Given the description of an element on the screen output the (x, y) to click on. 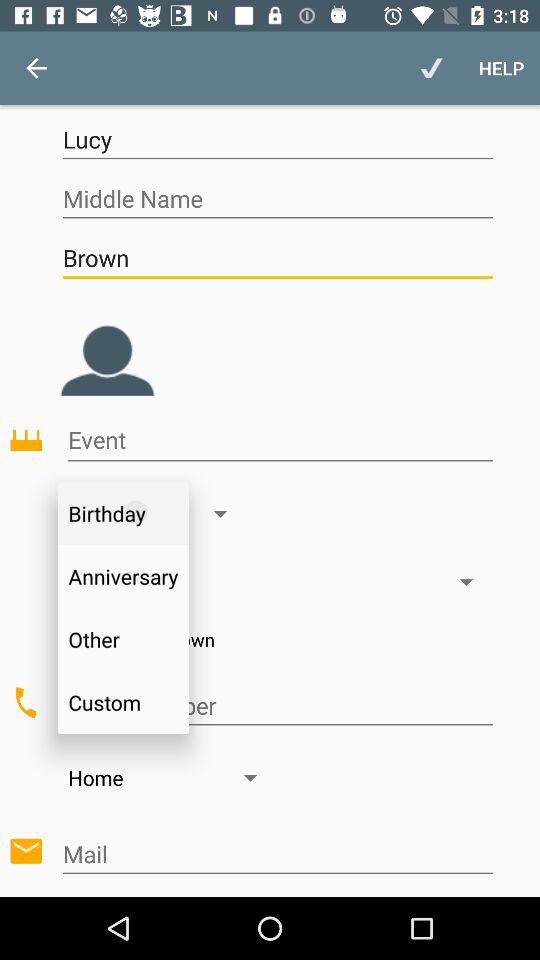
enter middle name (277, 198)
